Given the description of an element on the screen output the (x, y) to click on. 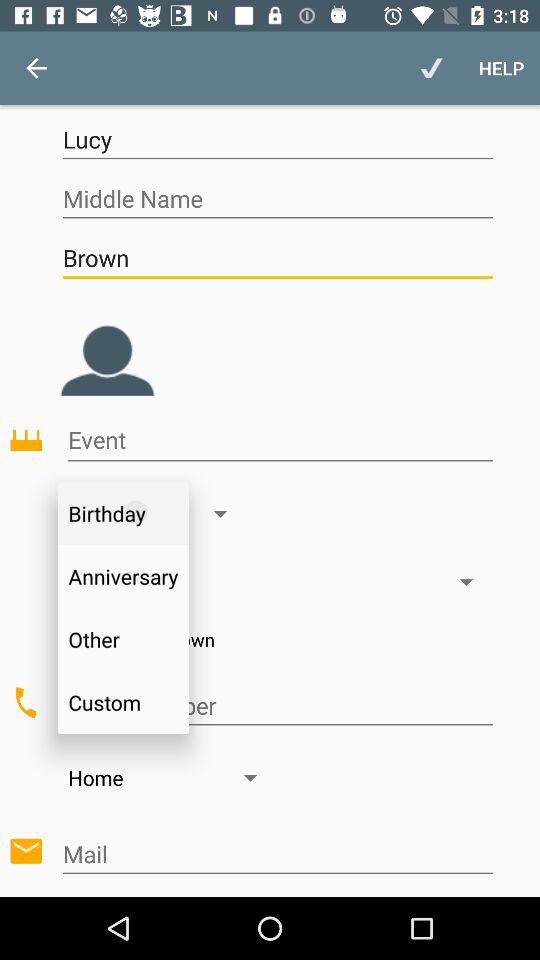
enter middle name (277, 198)
